Given the description of an element on the screen output the (x, y) to click on. 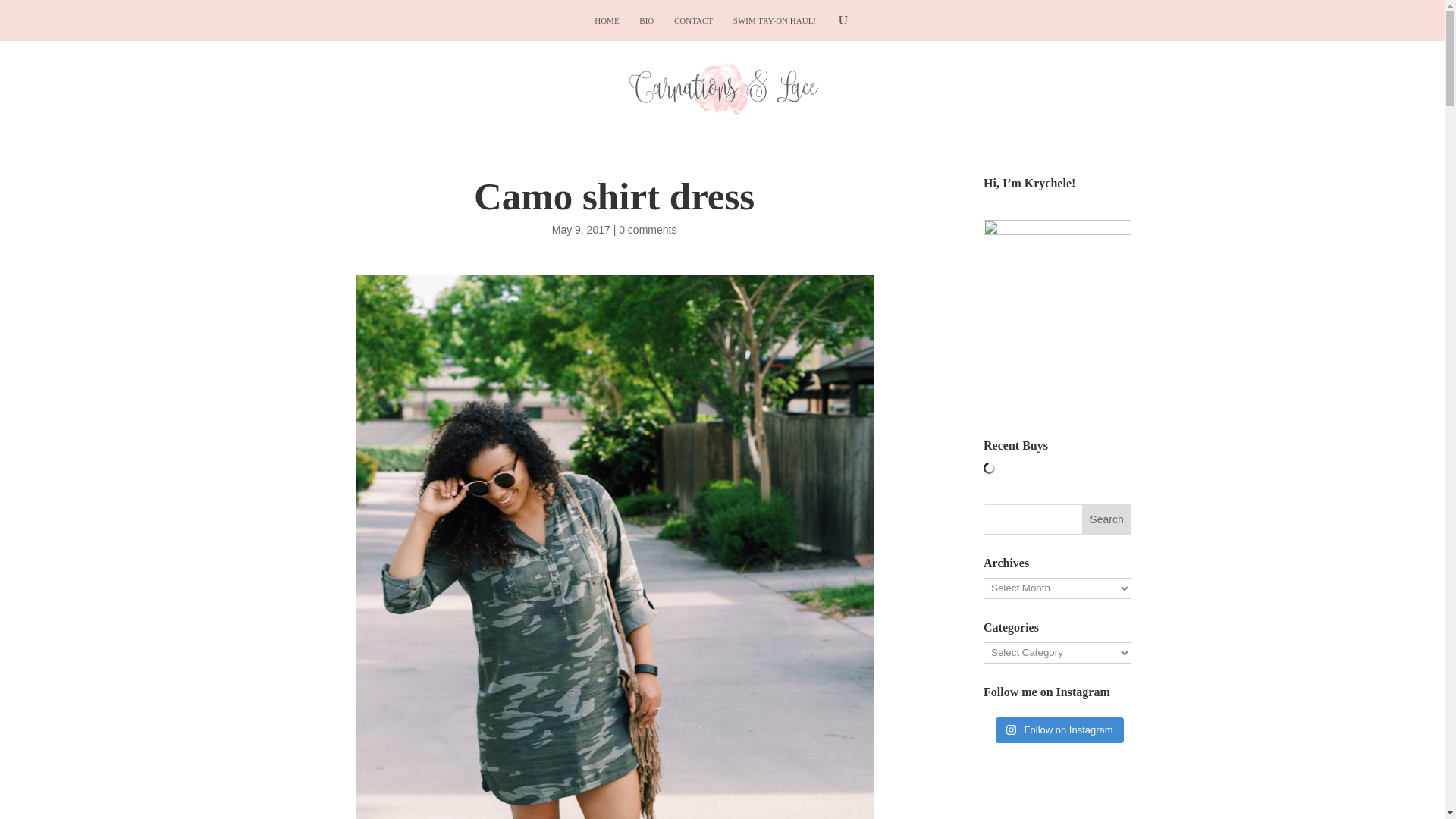
Search (1106, 519)
0 comments (647, 229)
Follow on Instagram (1059, 729)
CONTACT (693, 20)
Search (1106, 519)
SWIM TRY-ON HAUL! (774, 20)
